Given the description of an element on the screen output the (x, y) to click on. 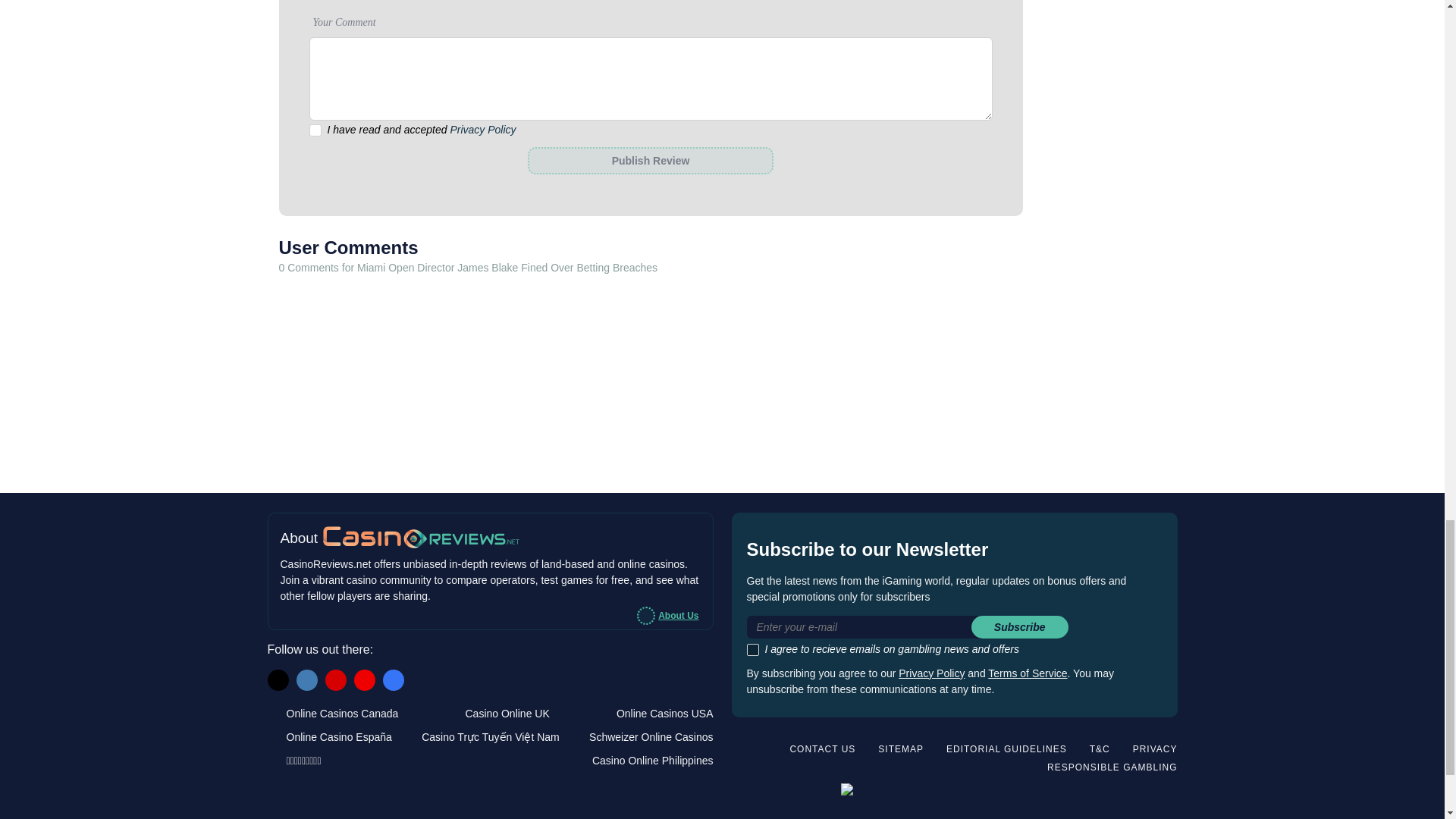
Subscribe (1019, 626)
DMCA.com Protection Status (1126, 791)
Publish Review (650, 160)
